Given the description of an element on the screen output the (x, y) to click on. 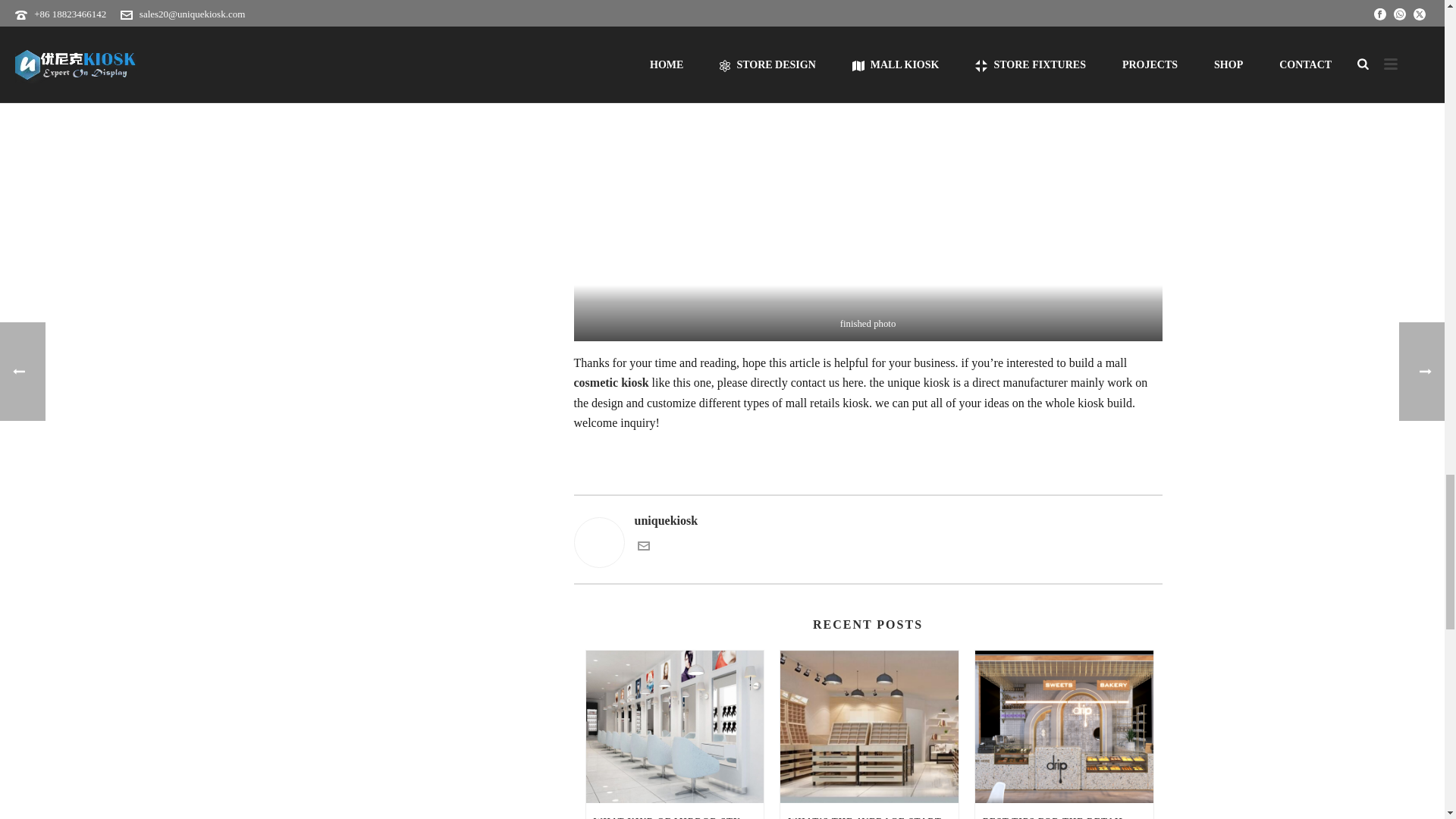
Best tips for the retail mall kiosk business easy to start (1064, 726)
Get in touch with me via email (643, 547)
